Given the description of an element on the screen output the (x, y) to click on. 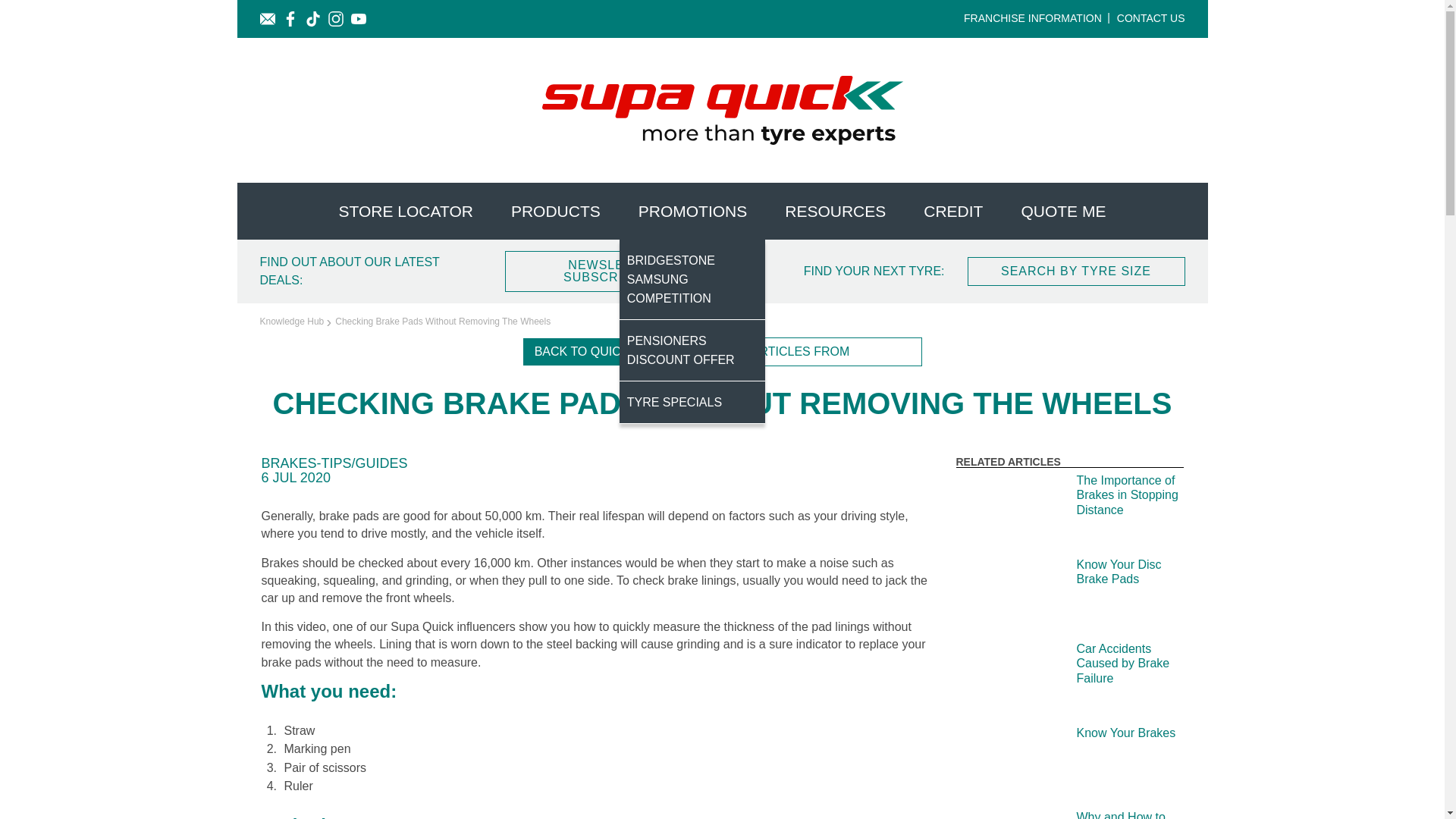
The Importance of Brakes in Stopping Distance (1068, 509)
Know Your Brakes (1068, 761)
Supa Quick Franchise Information (1036, 18)
PRODUCTS (556, 210)
RESOURCES (834, 210)
Find Us on youtube (357, 18)
BRIDGESTONE SAMSUNG COMPETITION (692, 279)
Find your next tyre at SupaQuick (1076, 271)
SupaQuick Home (721, 110)
Know Your Brakes (1068, 761)
